Given the description of an element on the screen output the (x, y) to click on. 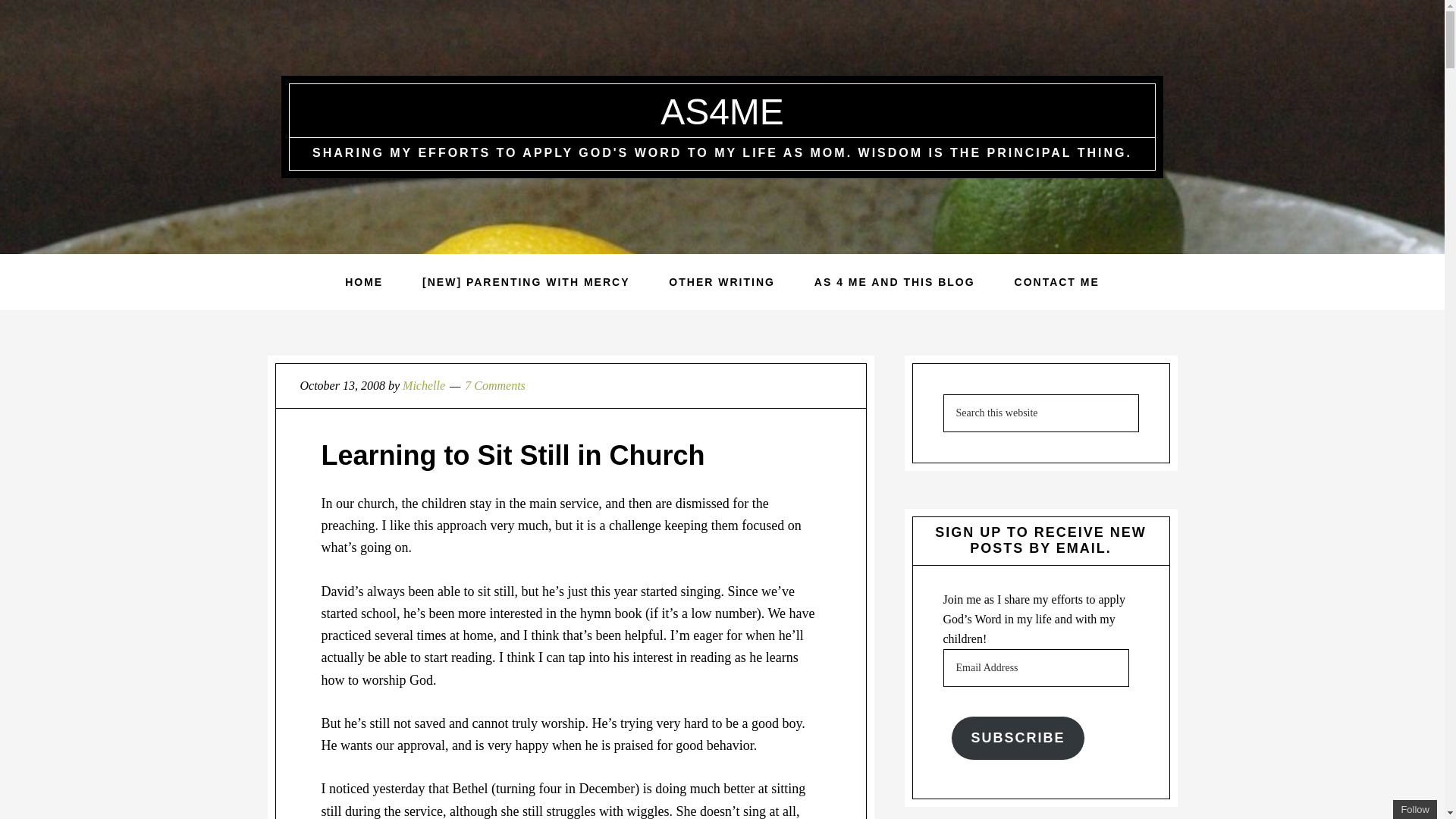
OTHER WRITING (721, 281)
7 Comments (494, 385)
AS4ME (722, 111)
Michelle (424, 385)
AS 4 ME AND THIS BLOG (894, 281)
HOME (363, 281)
CONTACT ME (1056, 281)
